Given the description of an element on the screen output the (x, y) to click on. 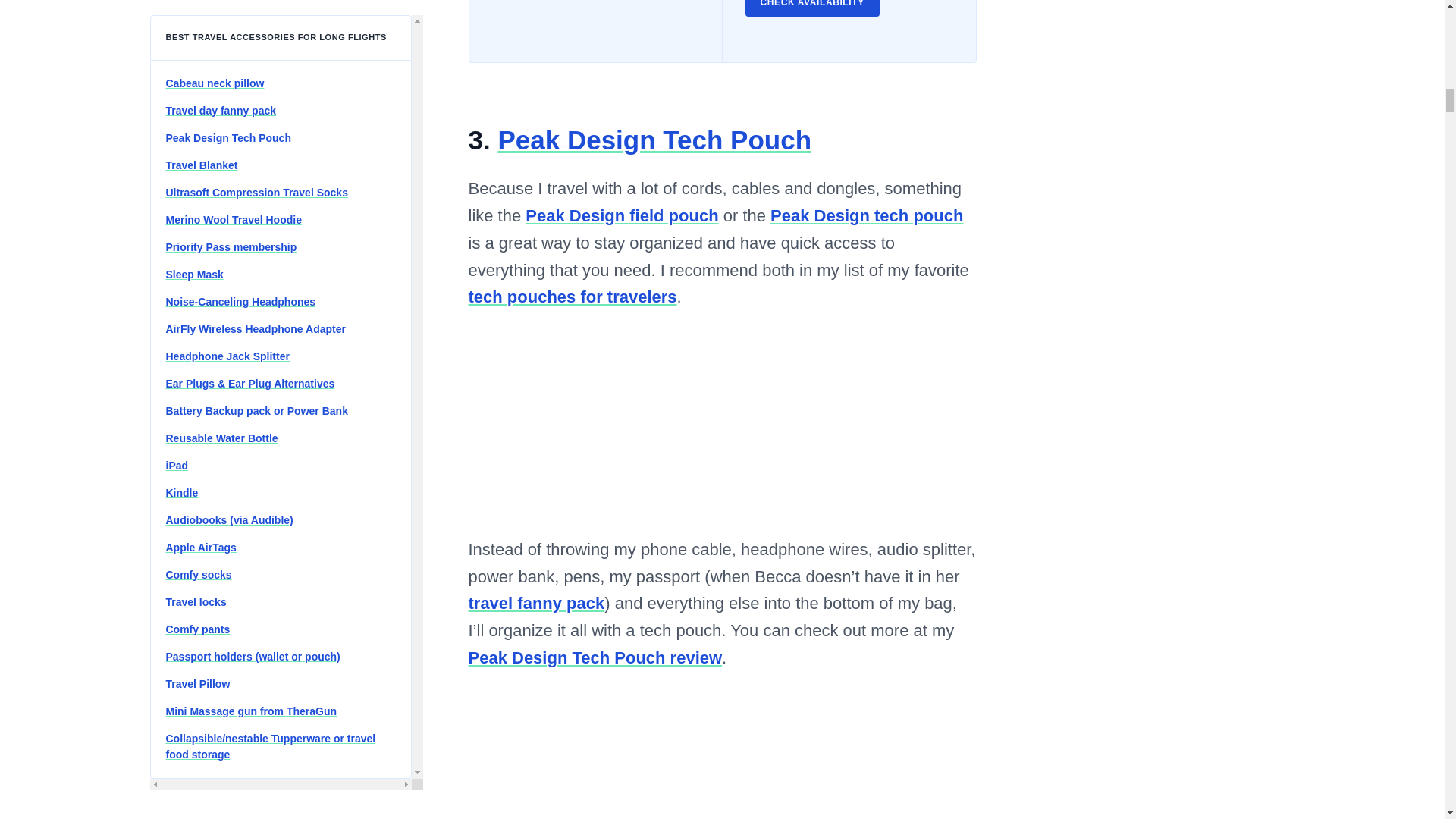
Affiliate Link (621, 215)
Affiliate Link (653, 139)
YouTube video (722, 760)
Affiliate Link (595, 31)
Affiliate Link (866, 215)
Affiliate Link (811, 8)
